Given the description of an element on the screen output the (x, y) to click on. 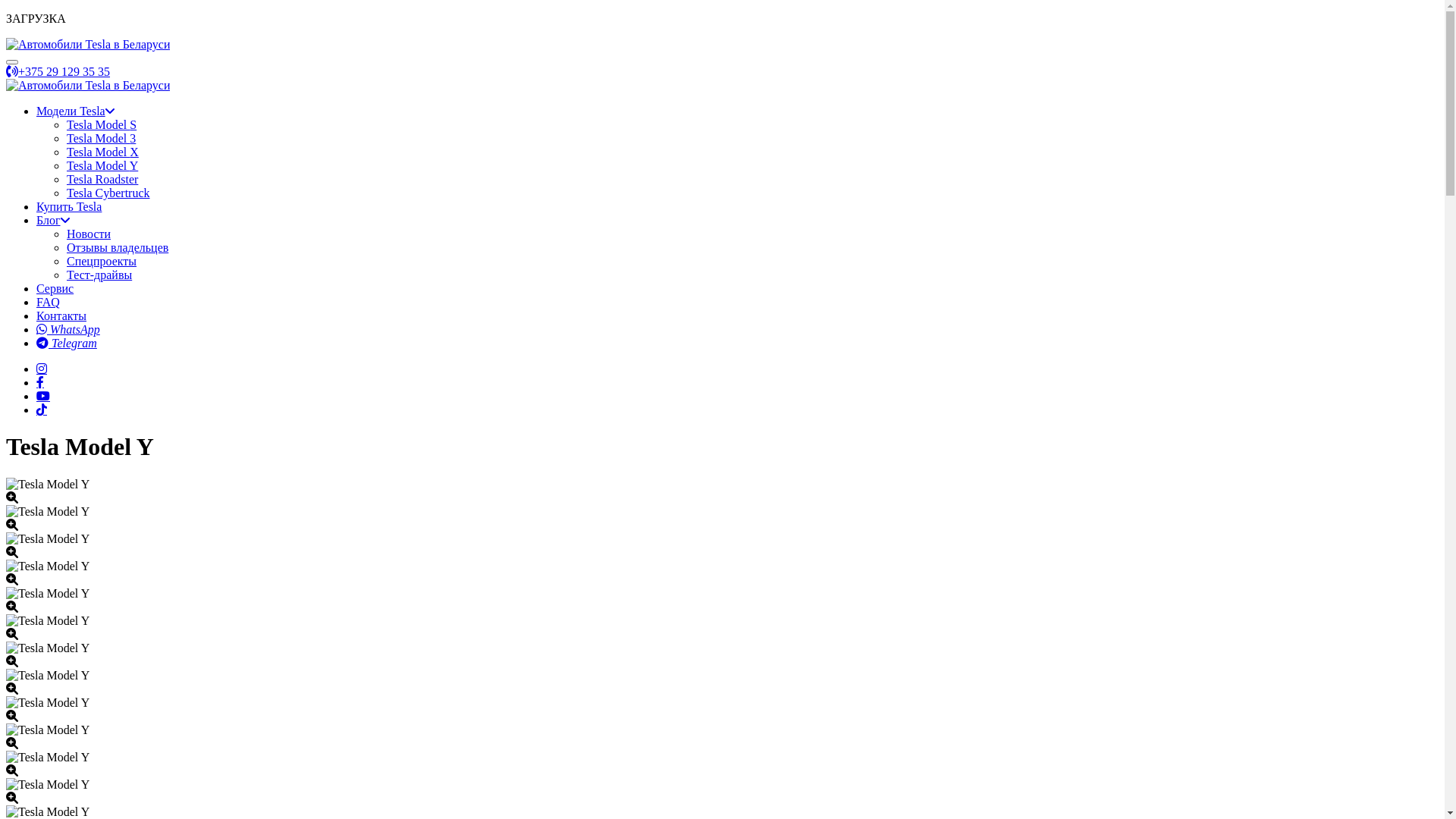
Tesla Model 3 Element type: text (100, 137)
Tesla Cybertruck Element type: text (108, 192)
+375 29 129 35 35 Element type: text (57, 71)
Telegram Element type: text (66, 342)
WhatsApp Element type: text (68, 329)
Tesla Model X Element type: text (102, 151)
Tesla Roadster Element type: text (102, 178)
Tesla Model Y Element type: text (102, 165)
Tesla Model S Element type: text (101, 124)
FAQ Element type: text (47, 301)
